Given the description of an element on the screen output the (x, y) to click on. 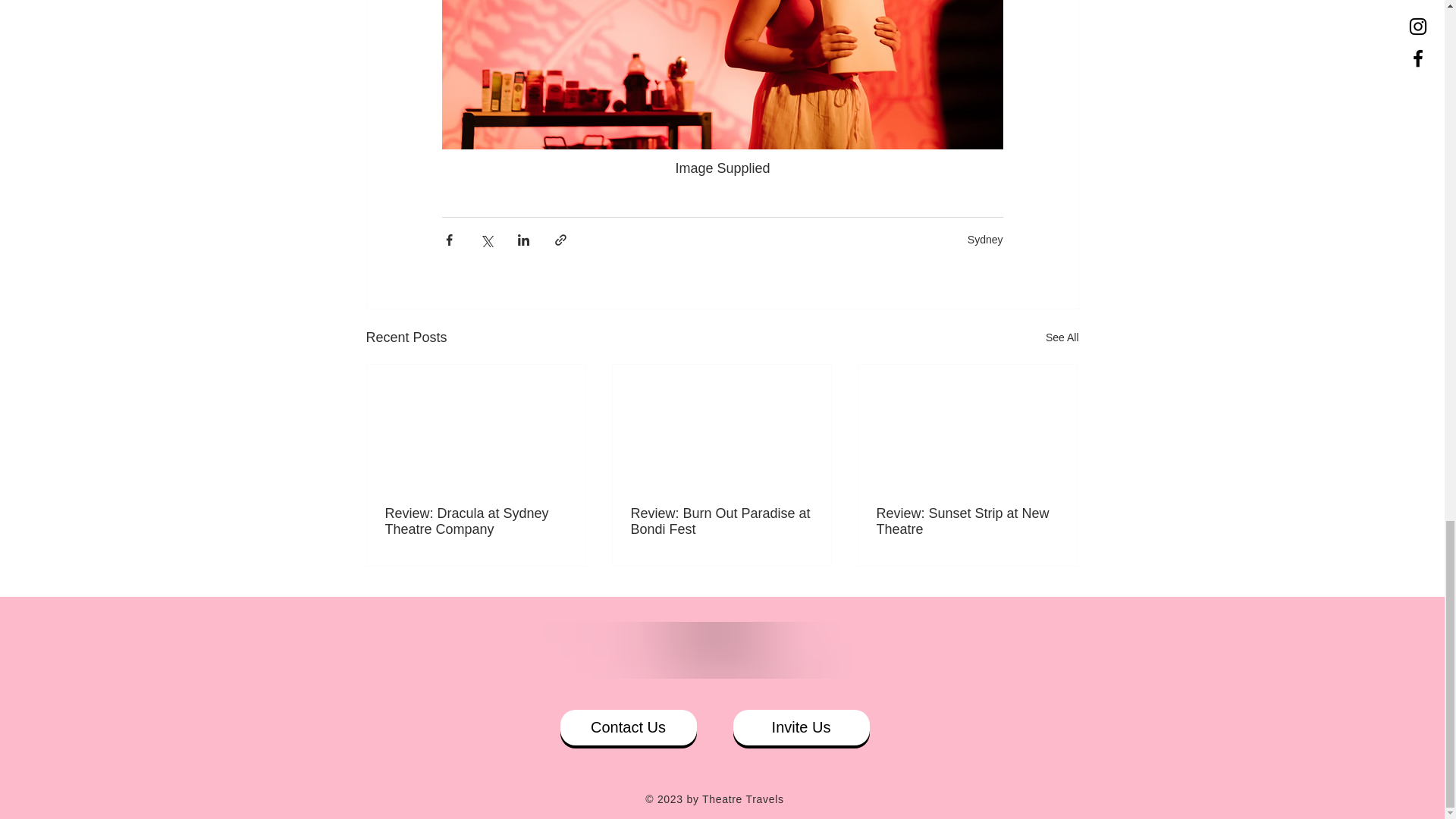
Sydney (985, 239)
Review: Dracula at Sydney Theatre Company (476, 521)
Invite Us (800, 727)
See All (1061, 337)
Contact Us (627, 727)
Review: Sunset Strip at New Theatre (967, 521)
Review: Burn Out Paradise at Bondi Fest  (721, 521)
